Given the description of an element on the screen output the (x, y) to click on. 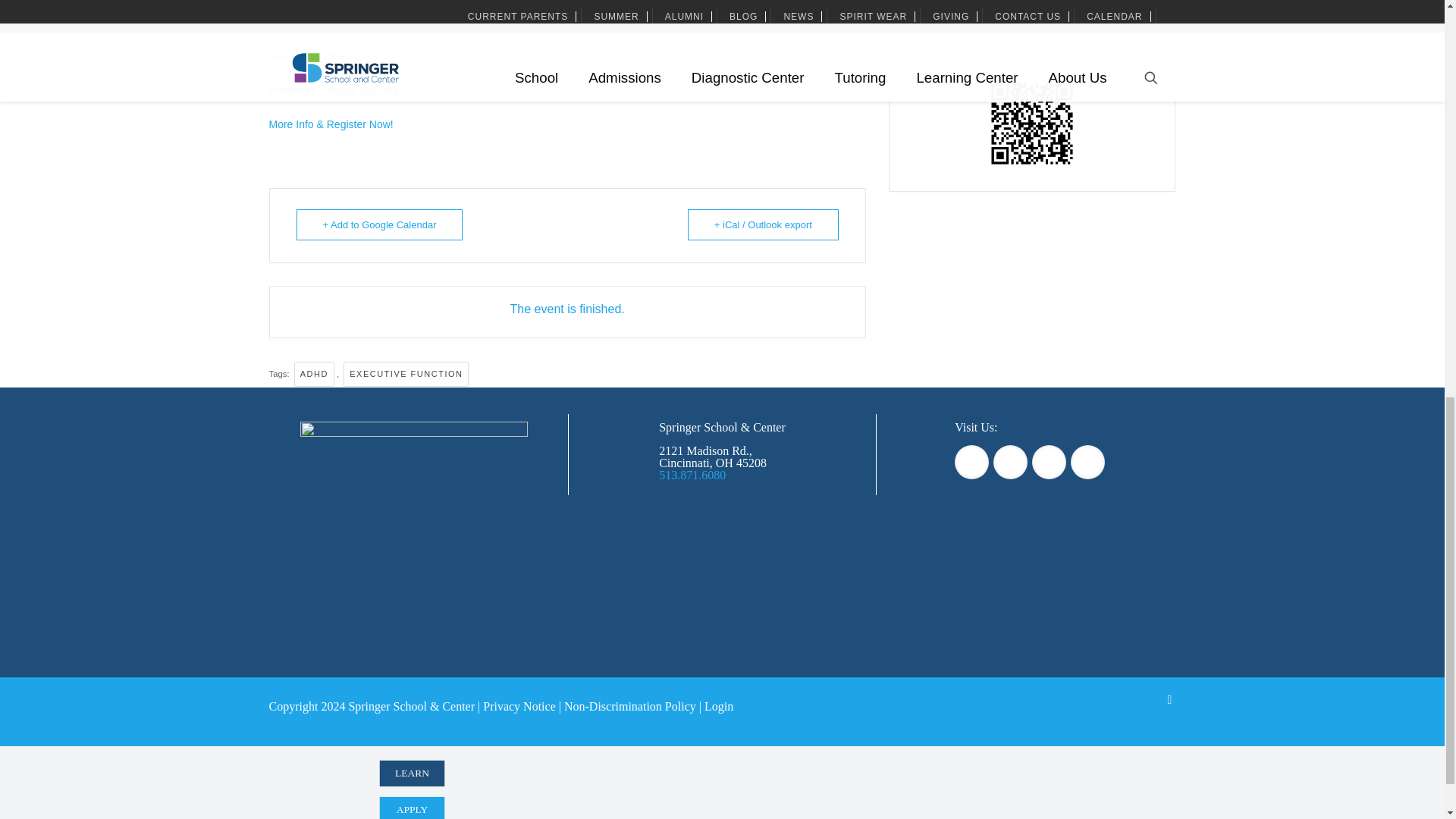
Share on Facebook (961, 6)
VK (1064, 6)
Linkedin (1029, 6)
Email (1098, 6)
Tweet (996, 6)
